Given the description of an element on the screen output the (x, y) to click on. 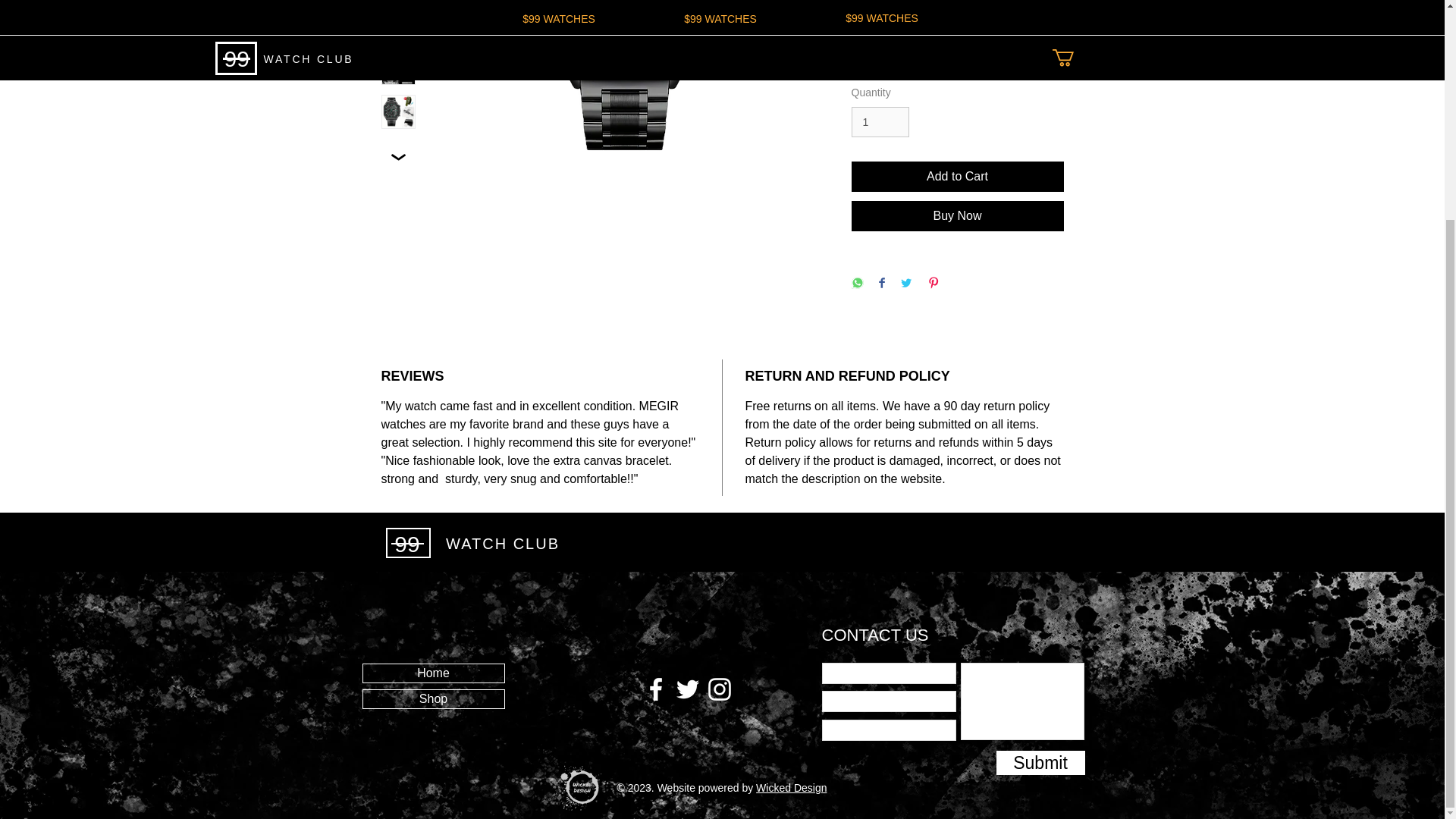
1 (879, 122)
Submit (1039, 762)
99 (406, 543)
Add to Cart (956, 176)
Shop (432, 699)
Wicked Design (791, 787)
Buy Now (956, 215)
Home (432, 673)
